Given the description of an element on the screen output the (x, y) to click on. 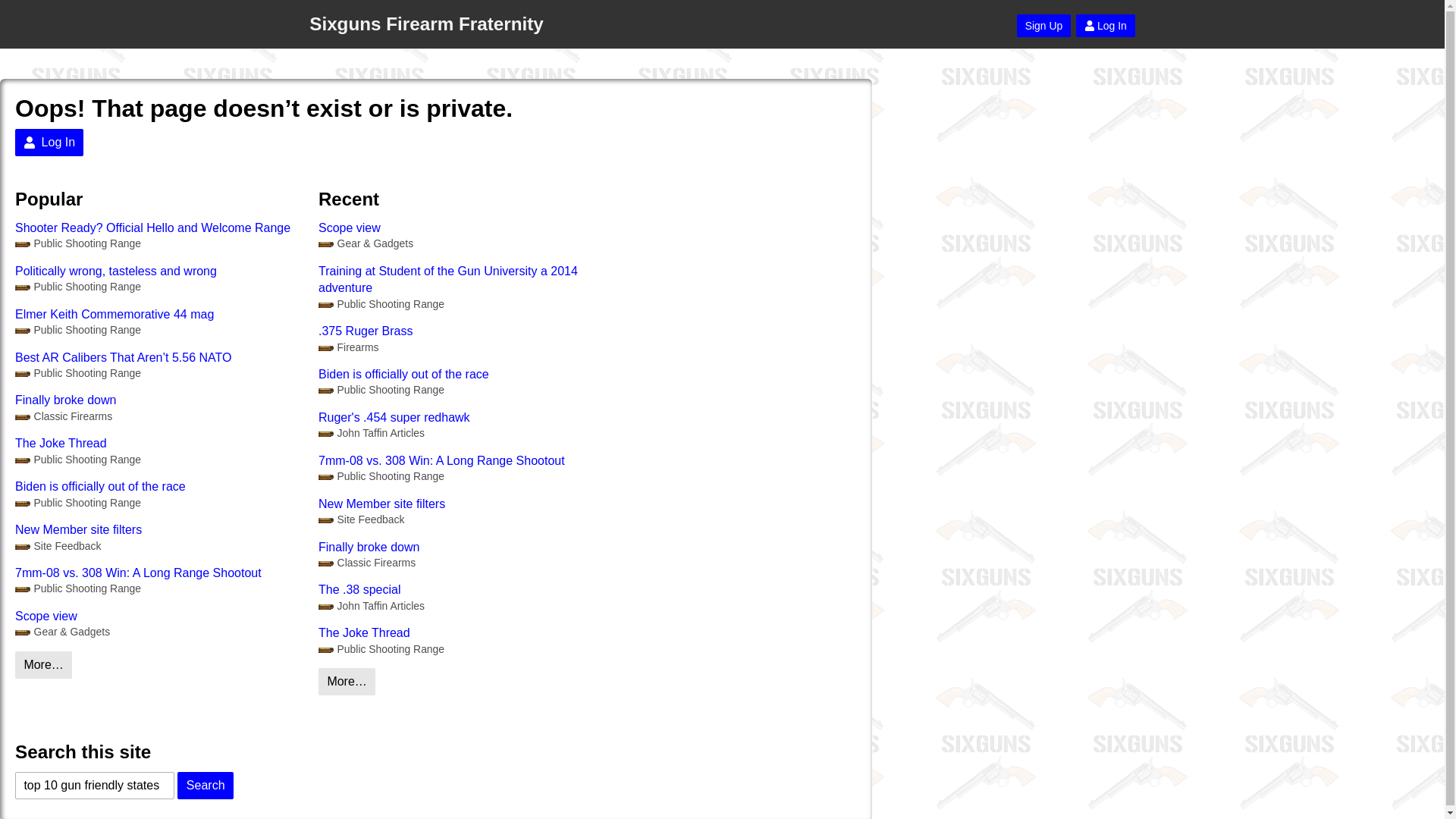
The guns that made the legends (366, 563)
7mm-08 vs. 308 Win: A Long Range Shootout (462, 460)
Public Shooting Range (381, 476)
Public Shooting Range (77, 287)
Finally broke down (462, 546)
Public Shooting Range (381, 304)
New Member site filters (462, 504)
Finally broke down (158, 400)
Scope view (158, 616)
.375 Ruger Brass (462, 330)
Elmer Keith Commemorative 44 mag (158, 314)
Ruger's .454 super redhawk (462, 417)
Log In (1105, 25)
Area to post ideas to help or problems to fix. (361, 519)
Biden is officially out of the race (158, 486)
